Given the description of an element on the screen output the (x, y) to click on. 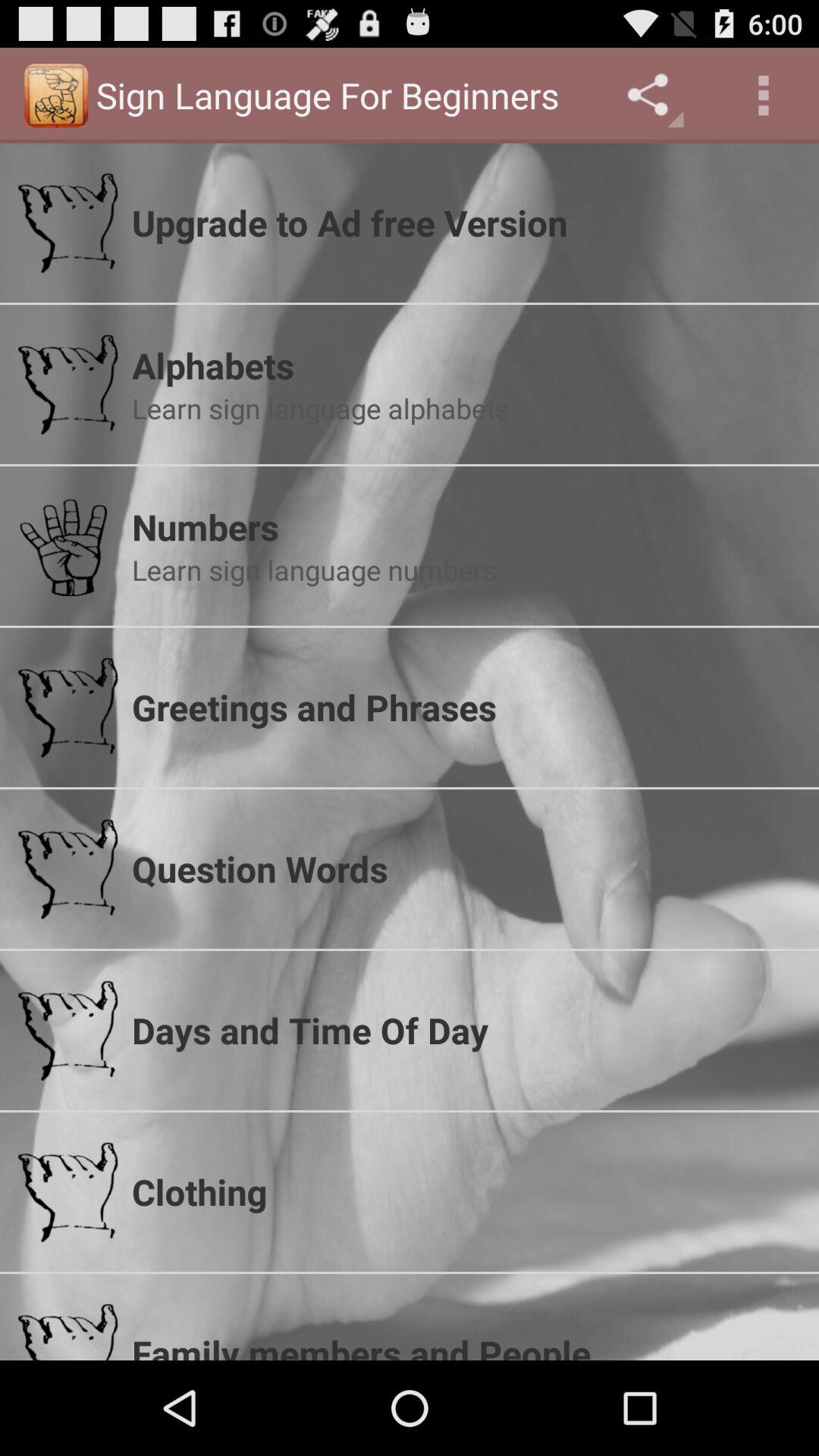
launch upgrade to ad item (465, 222)
